Given the description of an element on the screen output the (x, y) to click on. 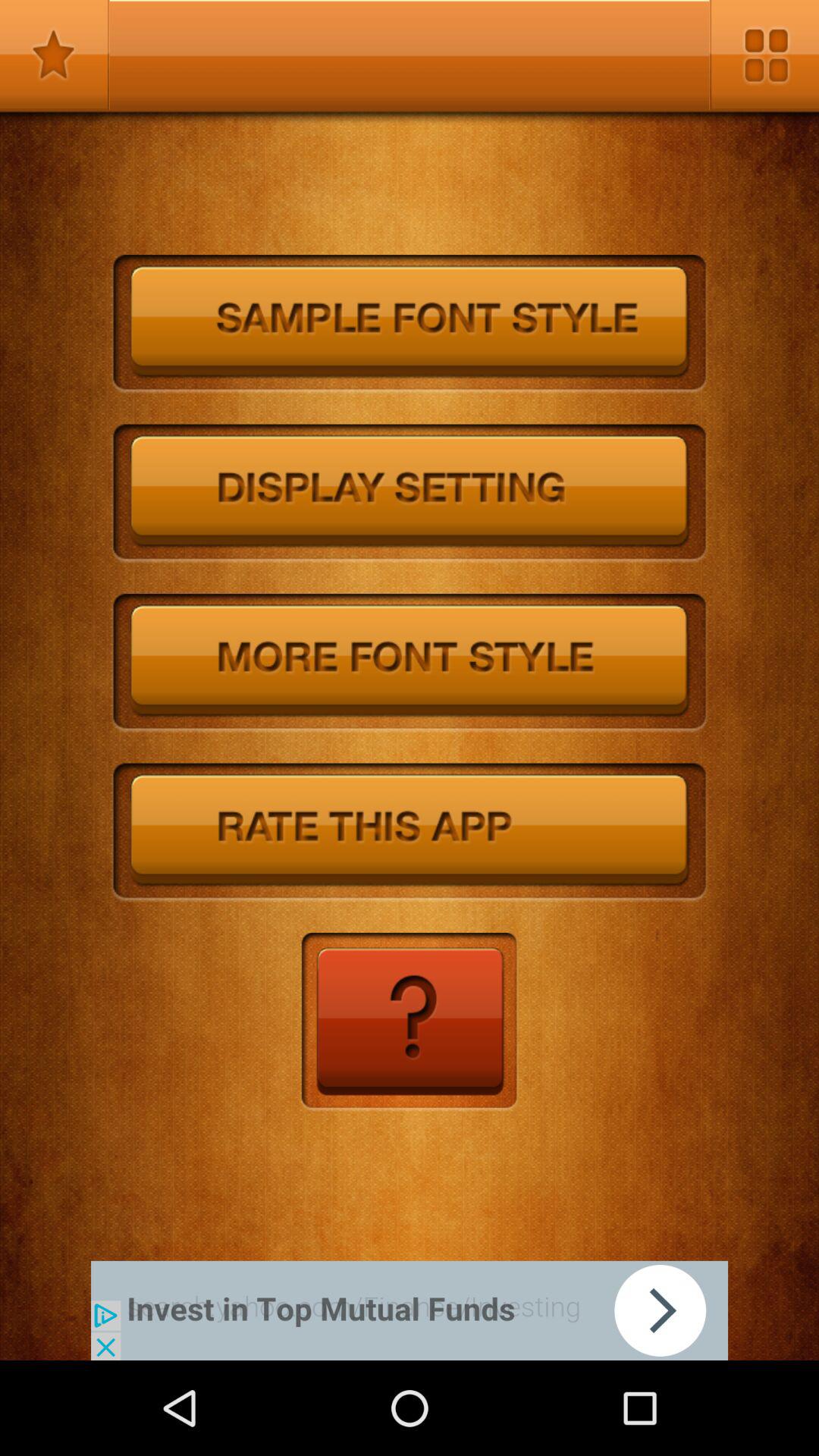
go to sample fonts (409, 324)
